Given the description of an element on the screen output the (x, y) to click on. 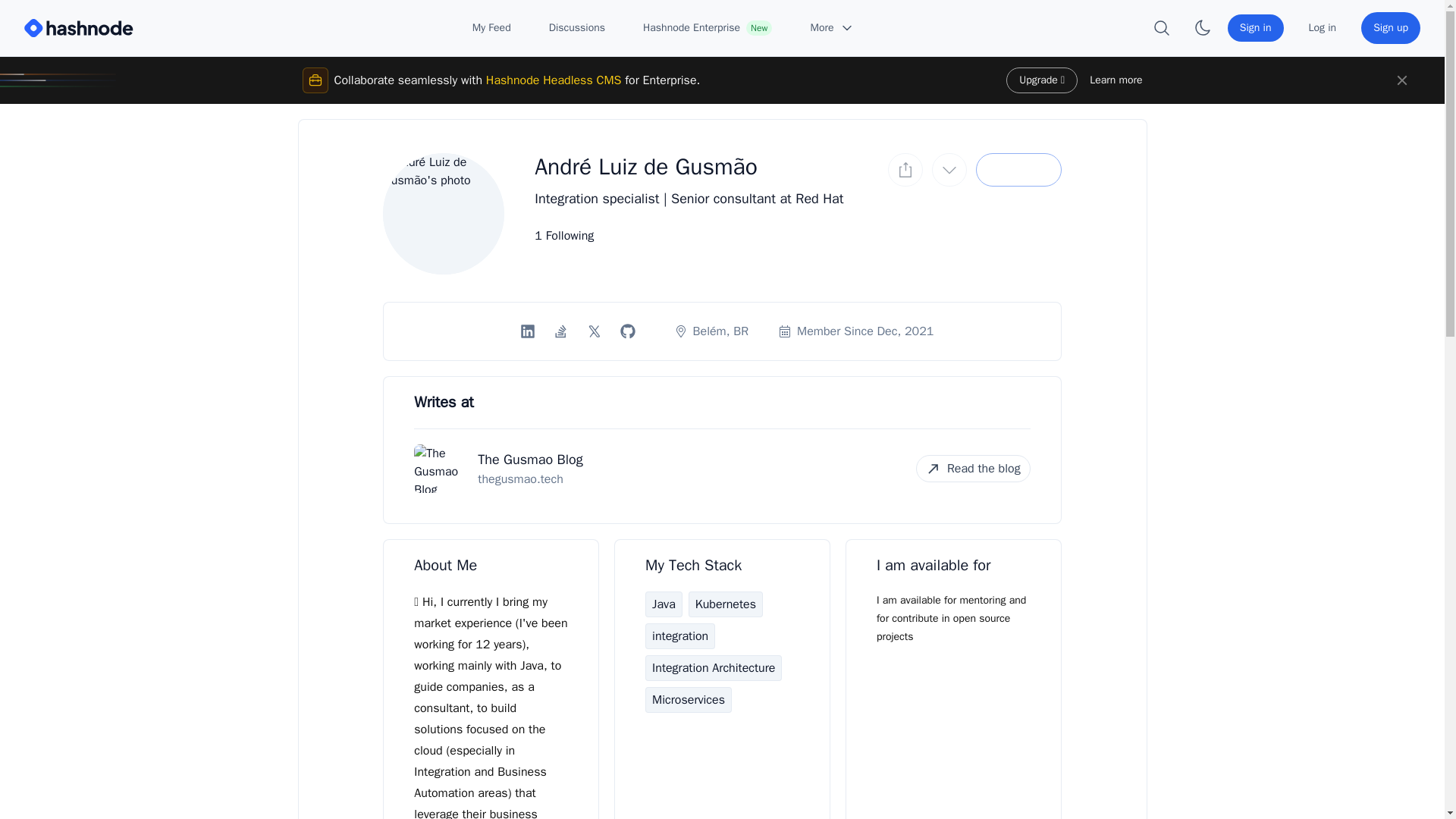
My Feed (492, 28)
Discussions (576, 28)
More actions (948, 169)
integration (679, 636)
Java (663, 604)
Read the blog (972, 468)
Sign in (1255, 27)
Share Profile (905, 169)
Follow (1018, 169)
thegusmao.tech (519, 478)
Integration Architecture (713, 667)
Learn more (1115, 79)
Kubernetes (725, 604)
The Gusmao Blog (529, 459)
Toggle dark mode (1202, 28)
